Given the description of an element on the screen output the (x, y) to click on. 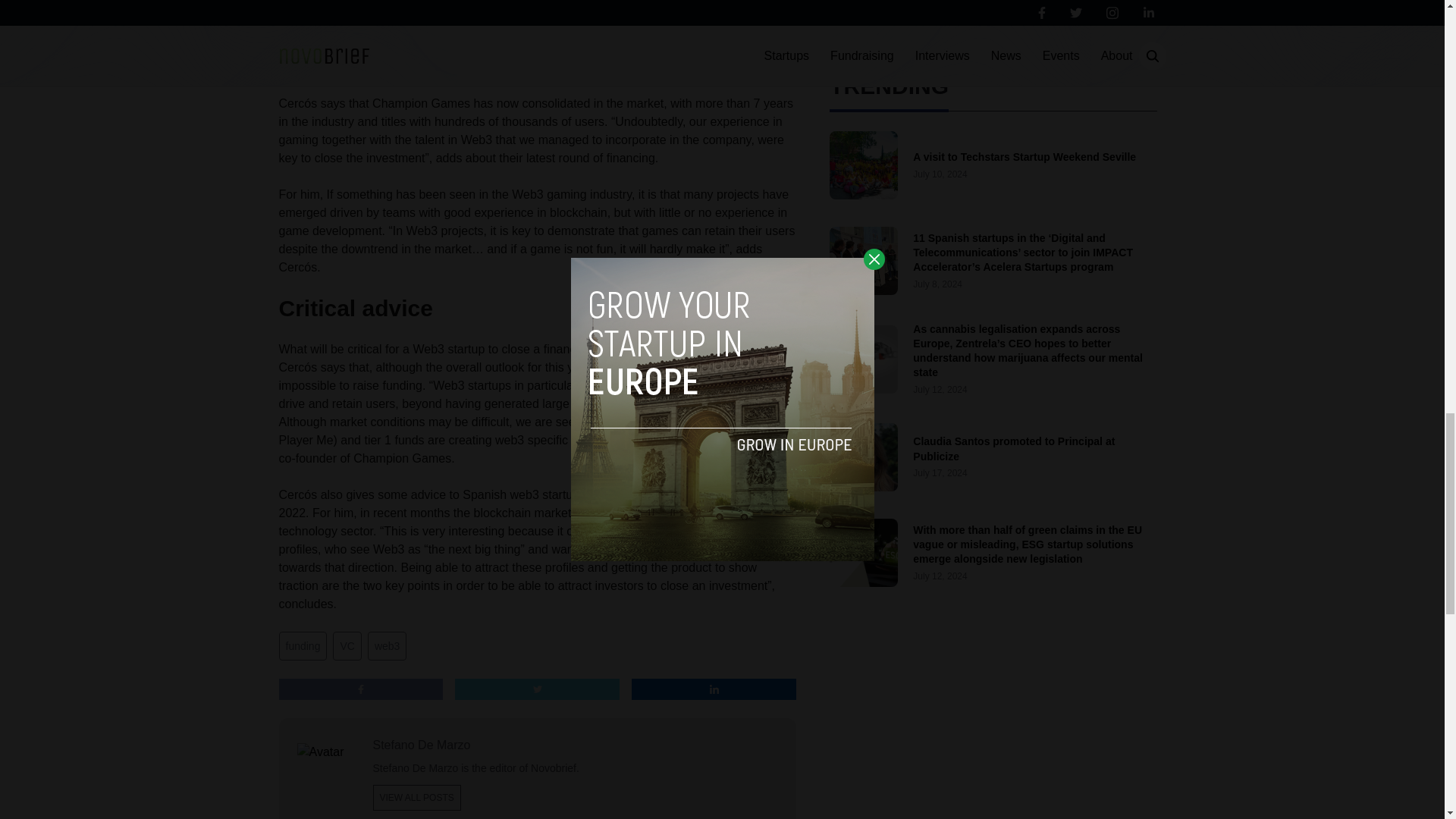
VC (347, 645)
funding (303, 645)
Polygon (736, 30)
web3 (387, 645)
